Given the description of an element on the screen output the (x, y) to click on. 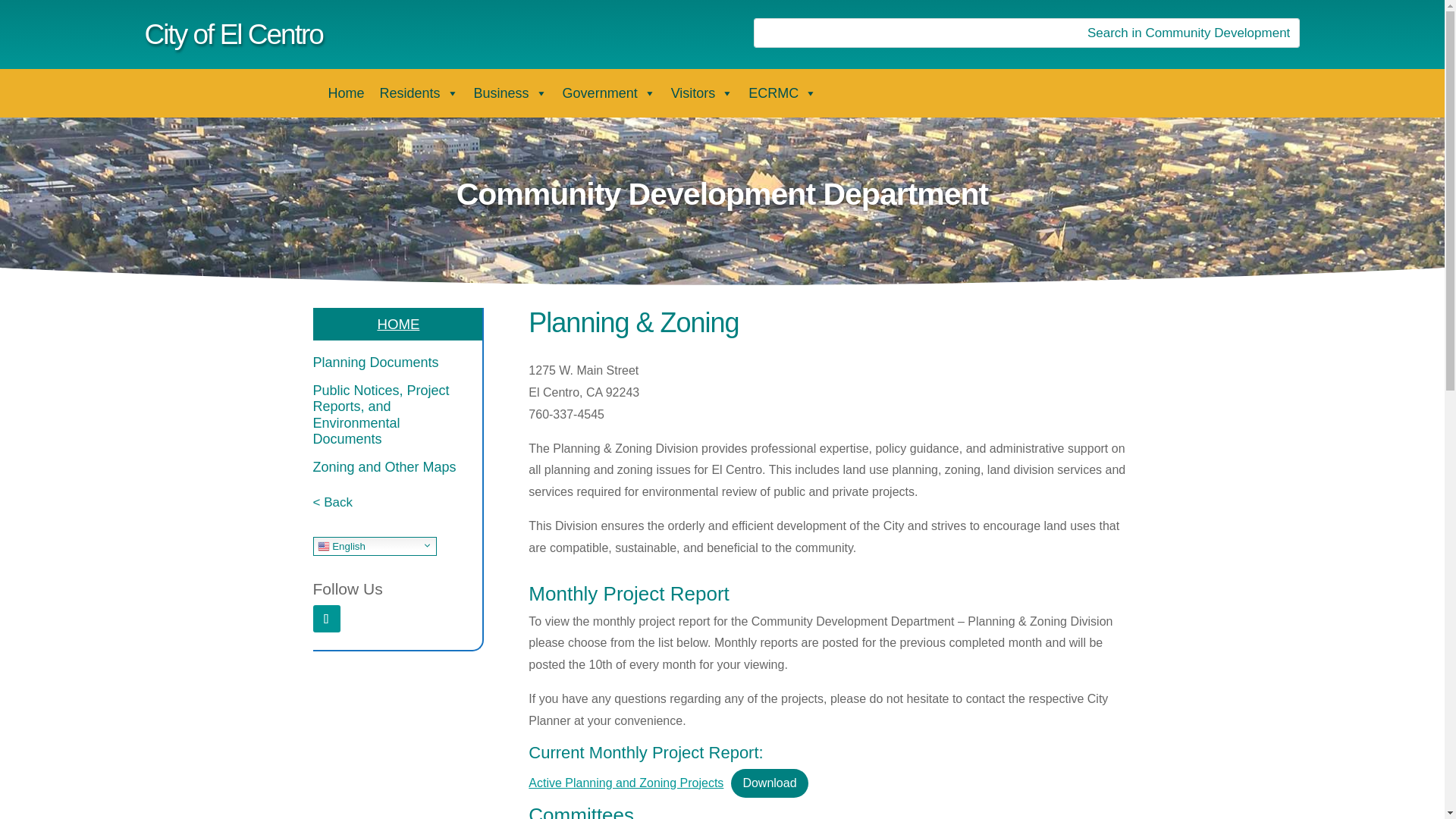
Home (345, 92)
Follow on Facebook (326, 618)
Residents (418, 92)
Search (24, 13)
